Given the description of an element on the screen output the (x, y) to click on. 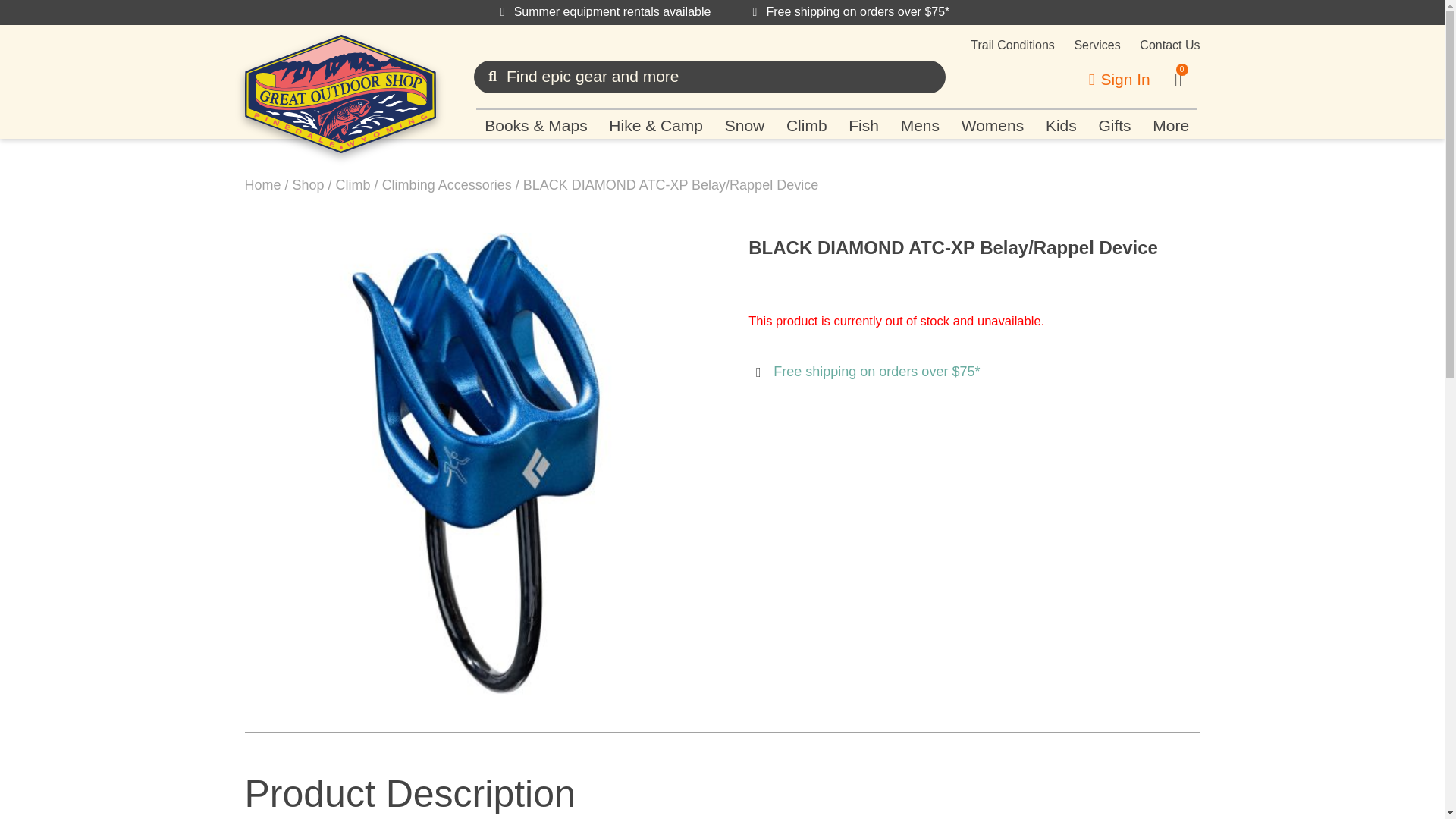
Snow (743, 125)
0 (1177, 79)
Fish (863, 125)
Climb (807, 125)
Womens (991, 125)
Kids (1061, 125)
Mens (919, 125)
Gifts (1114, 125)
Summer equipment rentals available (603, 12)
More (1170, 125)
Services (1096, 46)
Contact Us (1169, 46)
Sign In (1118, 80)
Trail Conditions (1012, 46)
